Given the description of an element on the screen output the (x, y) to click on. 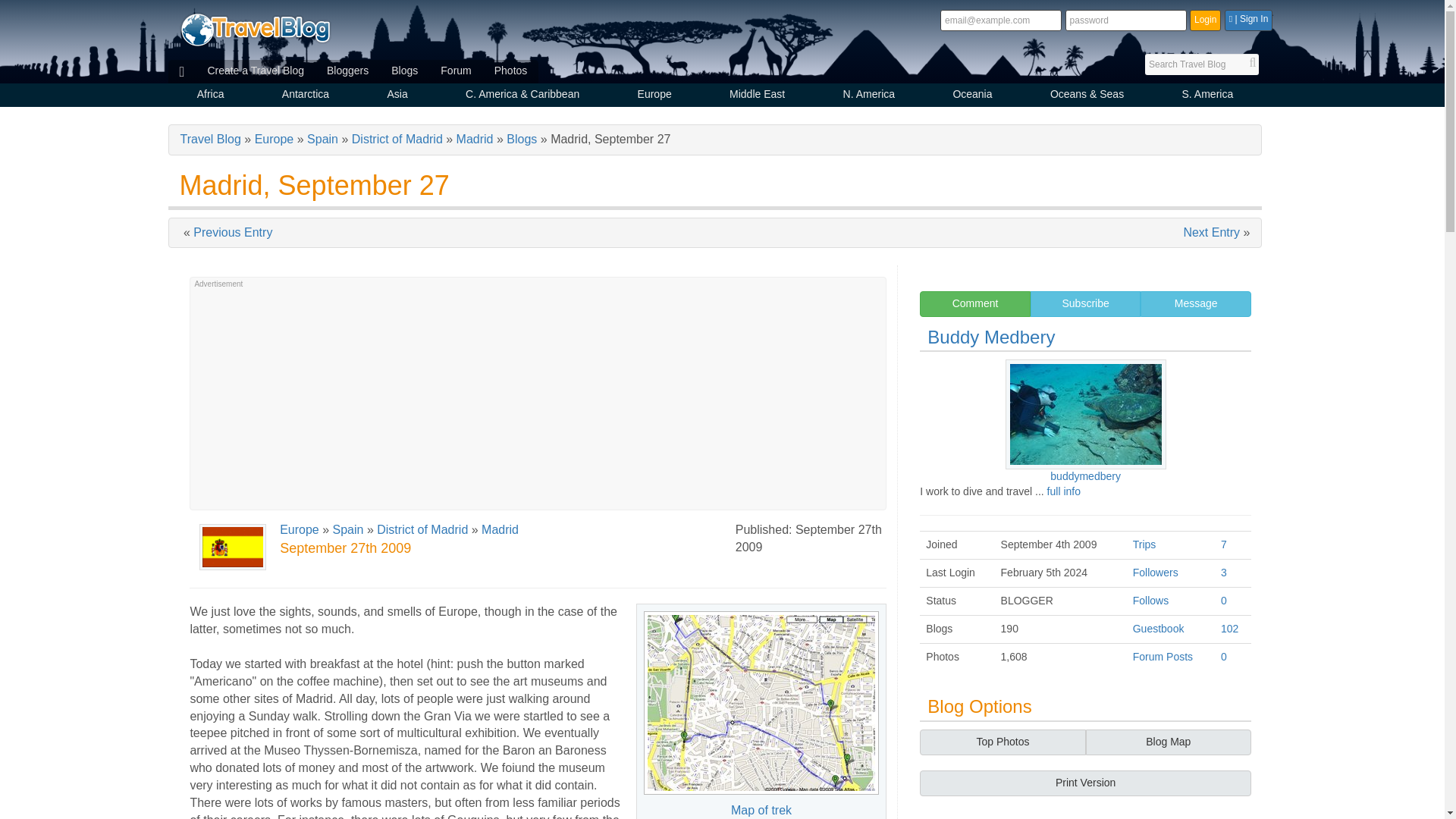
Get an email each time Buddy Medbery updates this blog. (1085, 303)
Send a Private Message to Buddy Medbery (1195, 303)
Map of trek (761, 702)
Oceania (972, 95)
Antarctica (305, 95)
S. America (1207, 95)
Middle East (756, 95)
Photos (510, 71)
Login (1205, 20)
Blogs (404, 71)
Africa (210, 95)
Asia (397, 95)
Europe (654, 95)
Forum (455, 71)
